Given the description of an element on the screen output the (x, y) to click on. 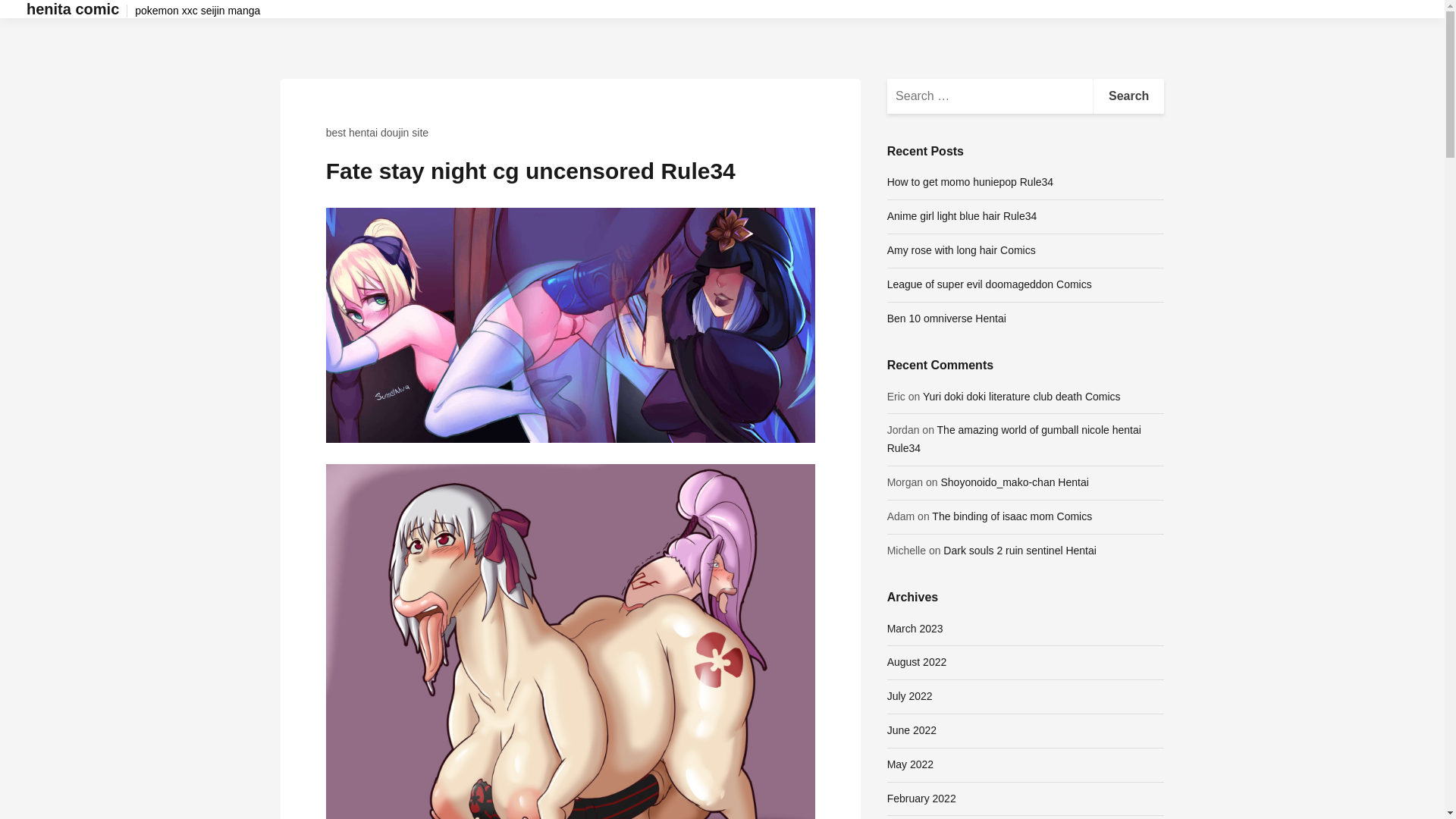
League of super evil doomageddon Comics (989, 284)
Yuri doki doki literature club death Comics (1022, 396)
May 2022 (909, 764)
Search (1128, 95)
Amy rose with long hair Comics (960, 250)
February 2022 (921, 798)
June 2022 (911, 729)
Search (1128, 95)
Ben 10 omniverse Hentai (946, 318)
The amazing world of gumball nicole hentai Rule34 (1013, 439)
Dark souls 2 ruin sentinel Hentai (1019, 550)
The binding of isaac mom Comics (1011, 516)
Anime girl light blue hair Rule34 (961, 215)
March 2023 (914, 628)
henita comic (72, 8)
